Given the description of an element on the screen output the (x, y) to click on. 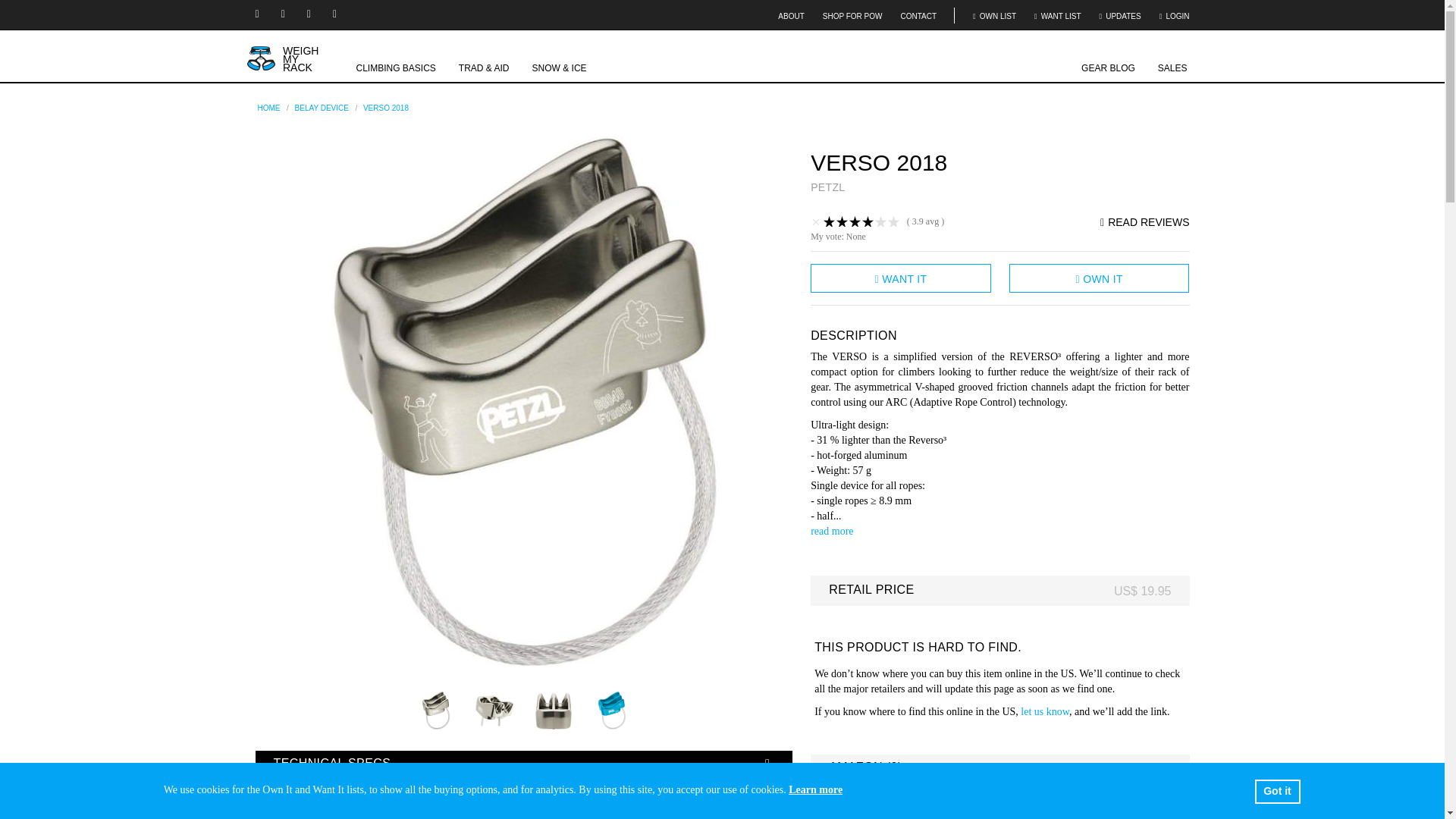
Gear on your Want It List (1057, 16)
WeighMyRack Instagram (258, 14)
WeighMyRack YouTube Channel (285, 14)
WeighMyRack Pinterest (336, 14)
Log in to your WeighMyRack account (1174, 16)
Sign up for gear updates (1120, 16)
WeighMyRack Facebook (310, 14)
Leave a message (1331, 794)
Gear on your Own It List (994, 16)
